Given the description of an element on the screen output the (x, y) to click on. 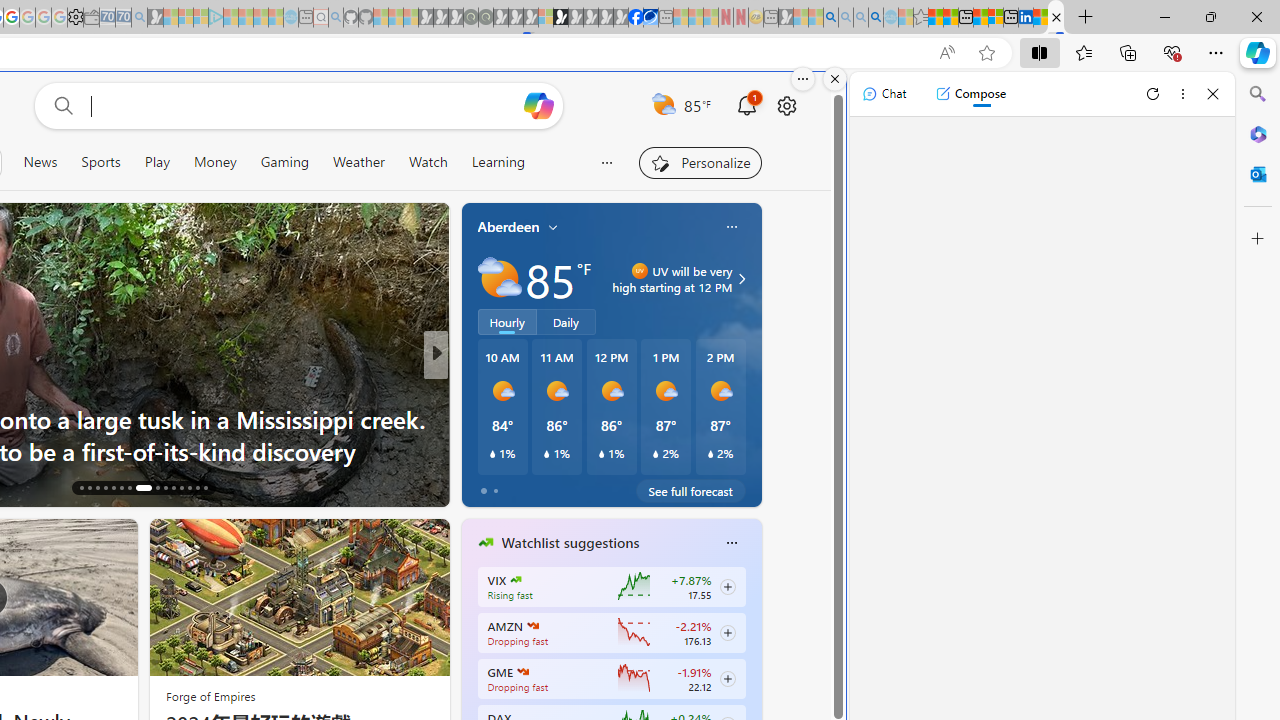
AutomationID: tab-23 (140, 487)
AutomationID: tab-19 (105, 487)
Nordace | Facebook (635, 17)
How to deep clean your body (758, 450)
Sports (101, 162)
Weather (358, 162)
Web search (59, 105)
354 Like (490, 486)
Watchlist suggestions (570, 543)
